Given the description of an element on the screen output the (x, y) to click on. 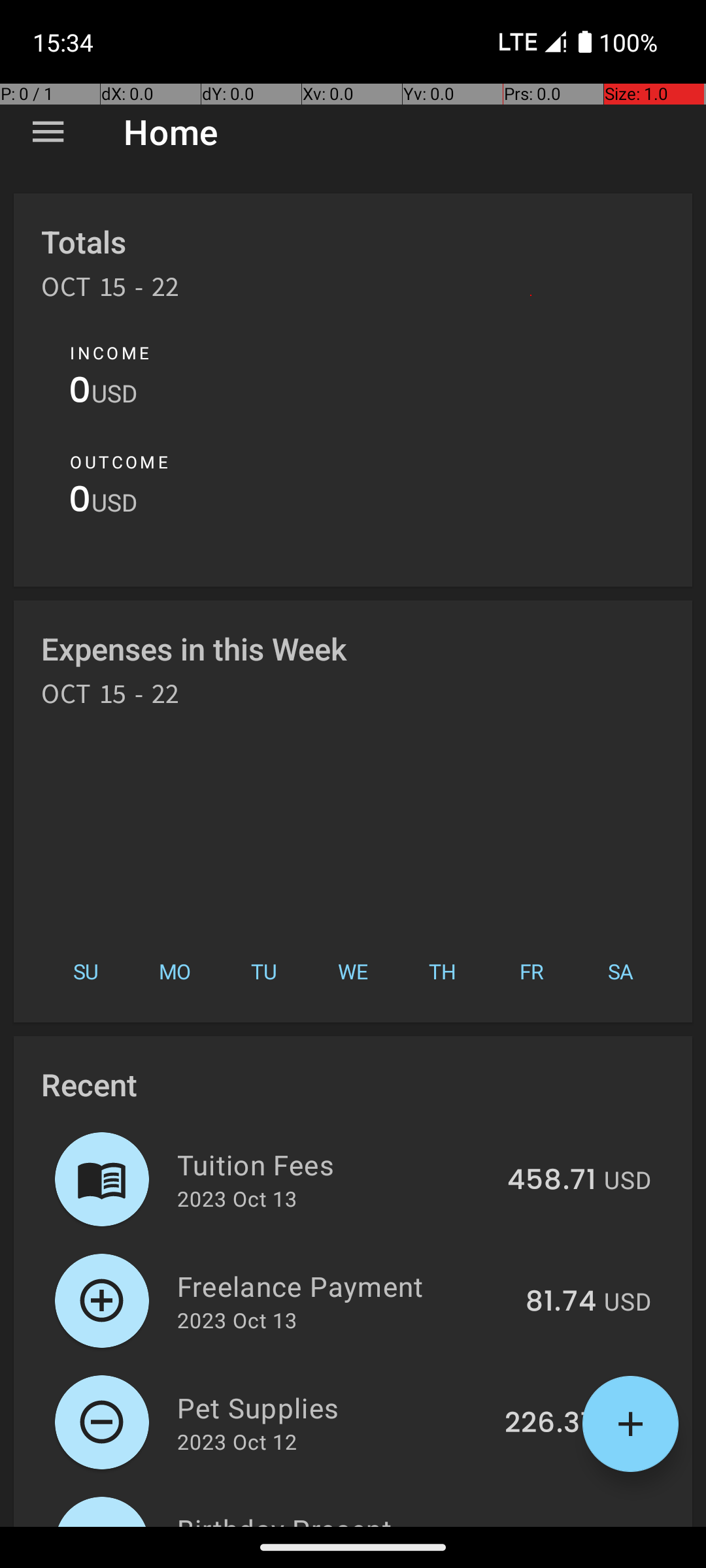
Tuition Fees Element type: android.widget.TextView (334, 1164)
458.71 Element type: android.widget.TextView (551, 1180)
81.74 Element type: android.widget.TextView (560, 1301)
Pet Supplies Element type: android.widget.TextView (333, 1407)
226.37 Element type: android.widget.TextView (550, 1423)
Birthday Present Element type: android.widget.TextView (335, 1518)
139.74 Element type: android.widget.TextView (551, 1524)
